Given the description of an element on the screen output the (x, y) to click on. 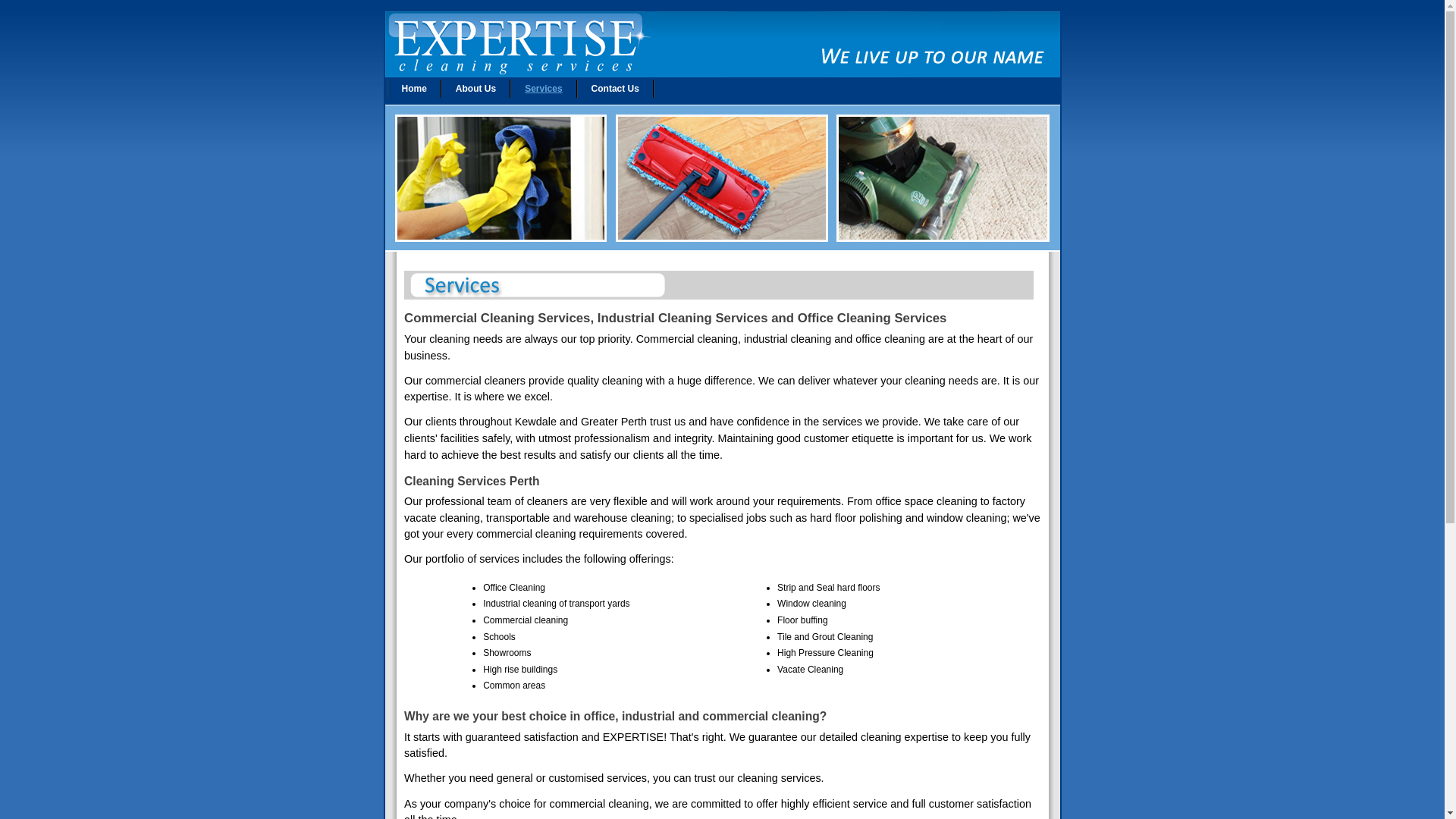
Contact Us Element type: text (615, 88)
About Us Element type: text (475, 88)
Services Element type: text (543, 88)
Home Element type: text (413, 88)
Expertise Cleaning Services Element type: hover (722, 74)
